Given the description of an element on the screen output the (x, y) to click on. 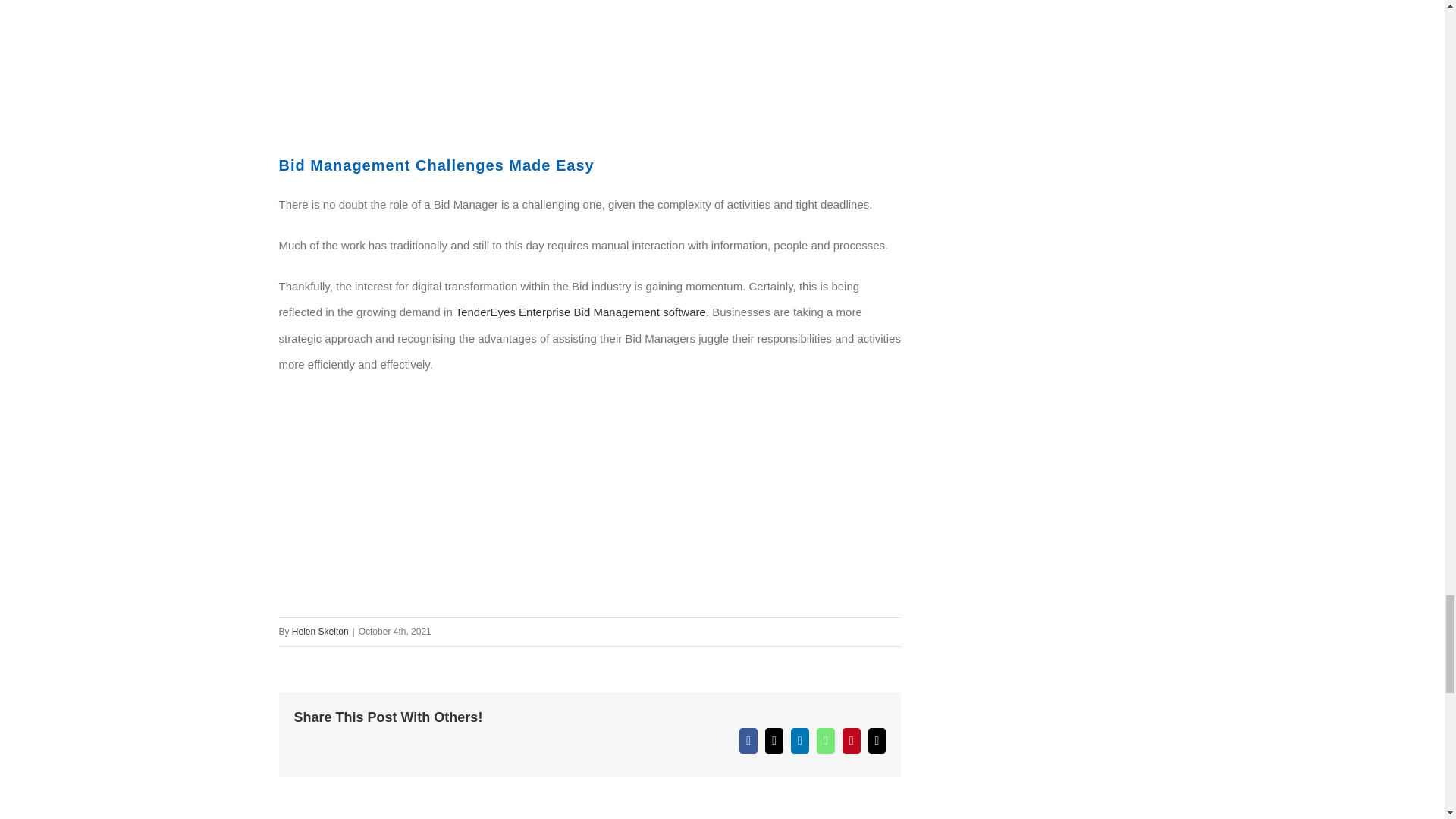
WhatsApp (825, 740)
LinkedIn (799, 740)
X (774, 740)
Facebook (748, 740)
Email (876, 740)
Pinterest (851, 740)
Posts by Helen Skelton (320, 631)
